Given the description of an element on the screen output the (x, y) to click on. 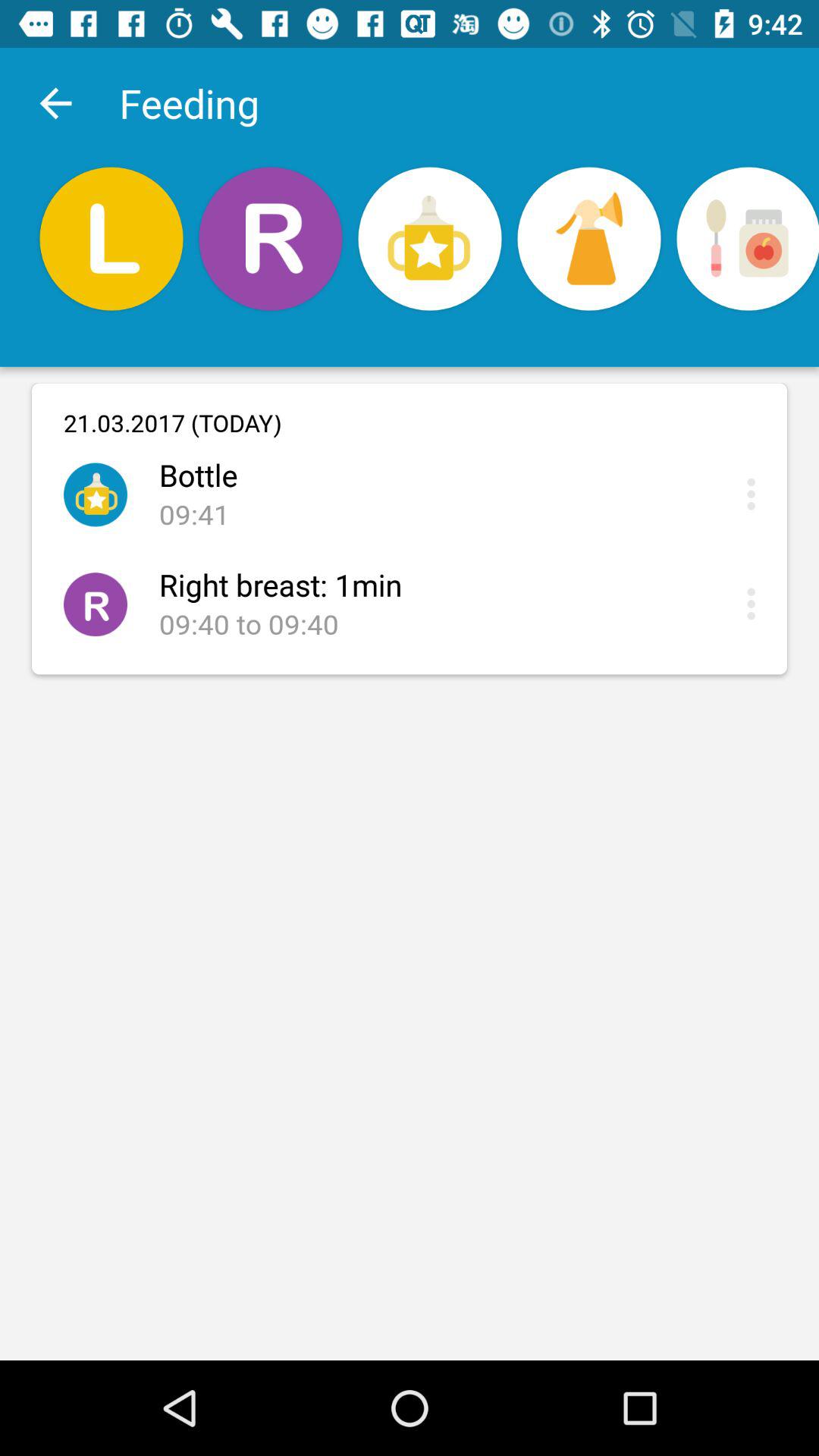
open the menu (755, 603)
